Given the description of an element on the screen output the (x, y) to click on. 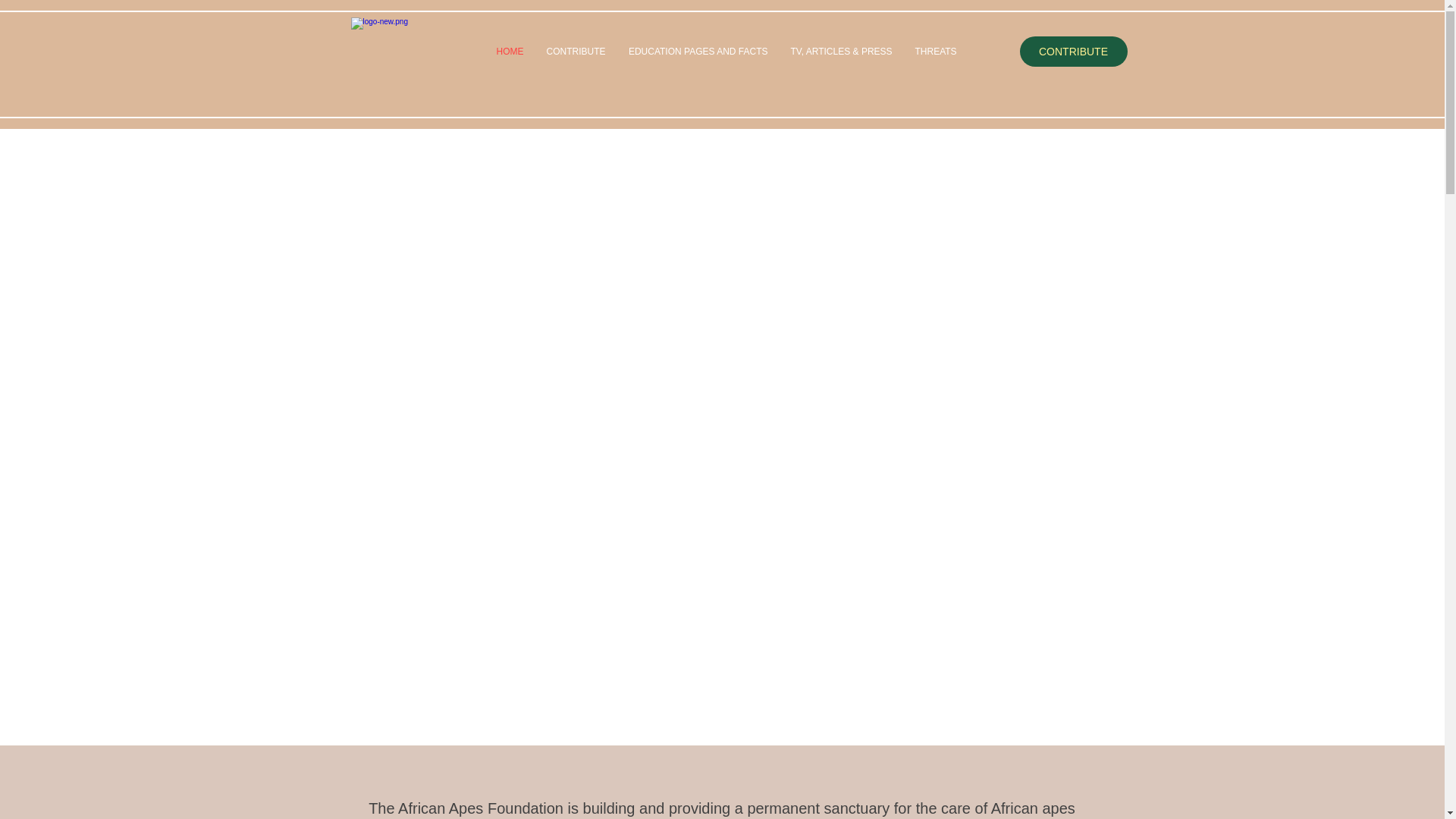
CONTRIBUTE (1072, 51)
EDUCATION PAGES AND FACTS (697, 51)
CONTRIBUTE (576, 51)
THREATS (936, 51)
HOME (509, 51)
